Given the description of an element on the screen output the (x, y) to click on. 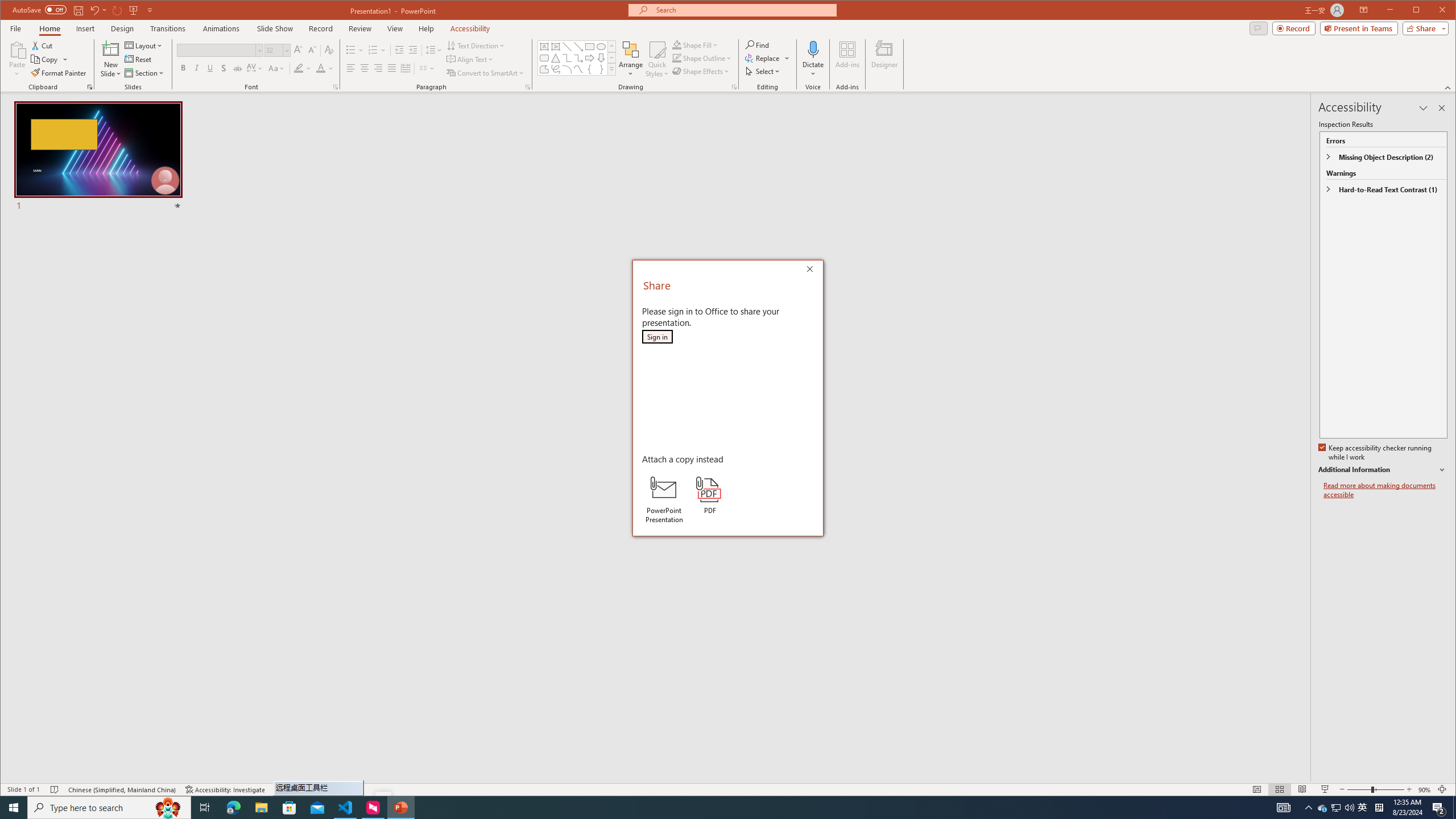
PowerPoint Presentation (663, 499)
